Given the description of an element on the screen output the (x, y) to click on. 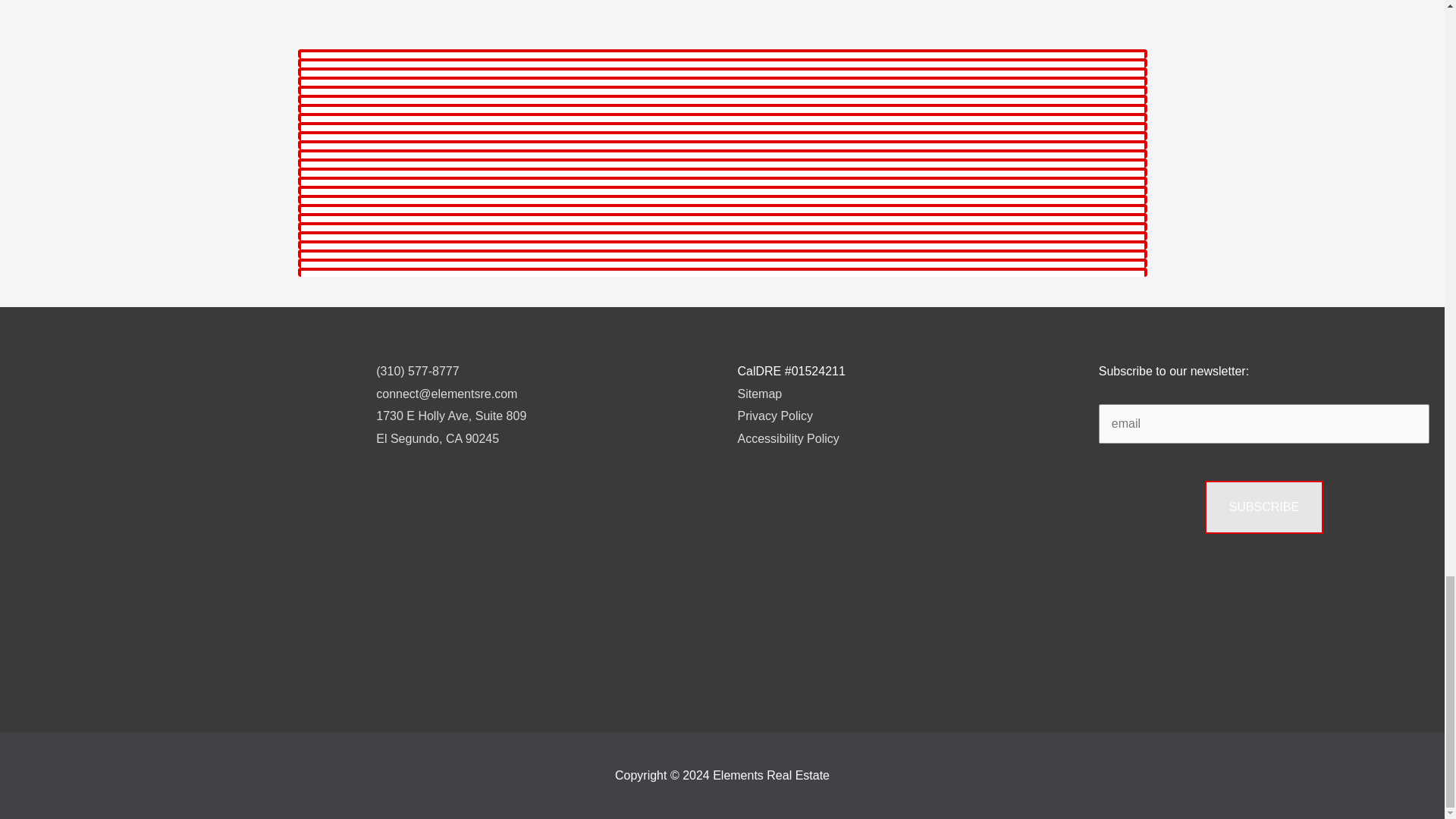
Sitemap (758, 393)
Accessibility Policy (787, 438)
SUBSCRIBE (1264, 506)
Privacy Policy (450, 427)
SUBSCRIBE (774, 415)
